Given the description of an element on the screen output the (x, y) to click on. 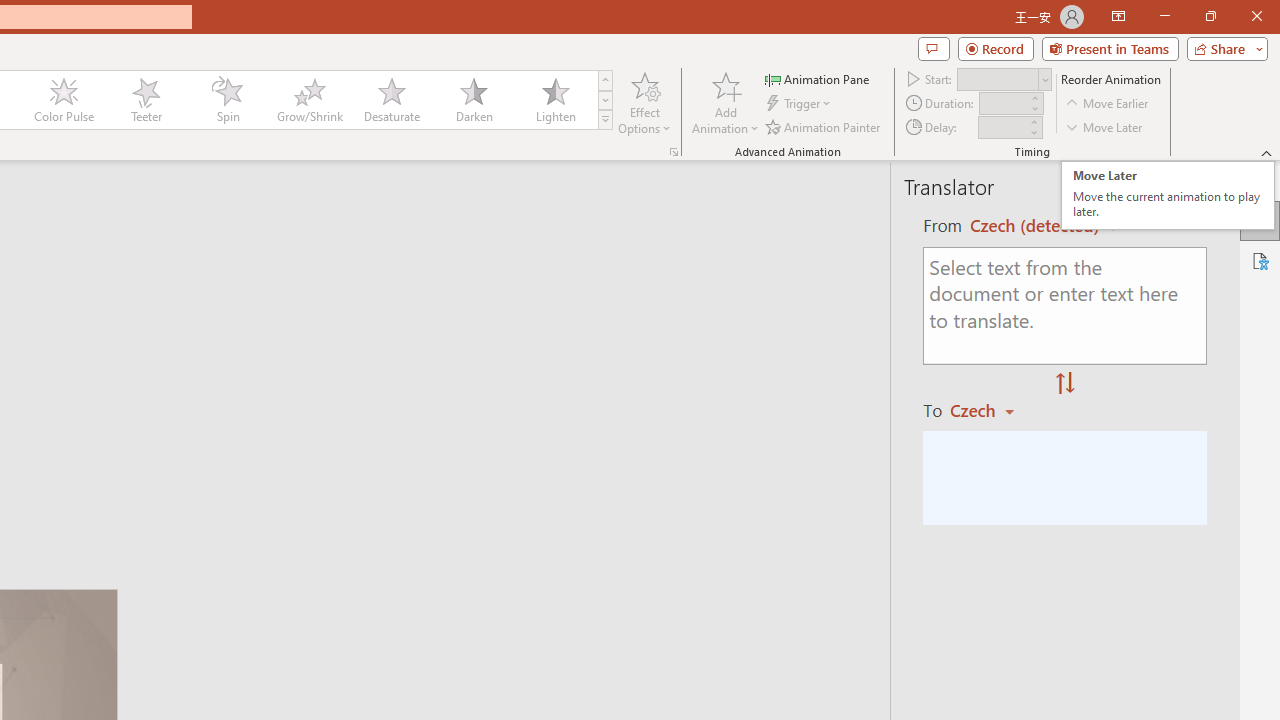
Color Pulse (63, 100)
More Options... (673, 151)
More (1033, 121)
Czech (991, 409)
Lighten (555, 100)
Teeter (145, 100)
Desaturate (391, 100)
Move Earlier (1107, 103)
Less (1033, 132)
